Given the description of an element on the screen output the (x, y) to click on. 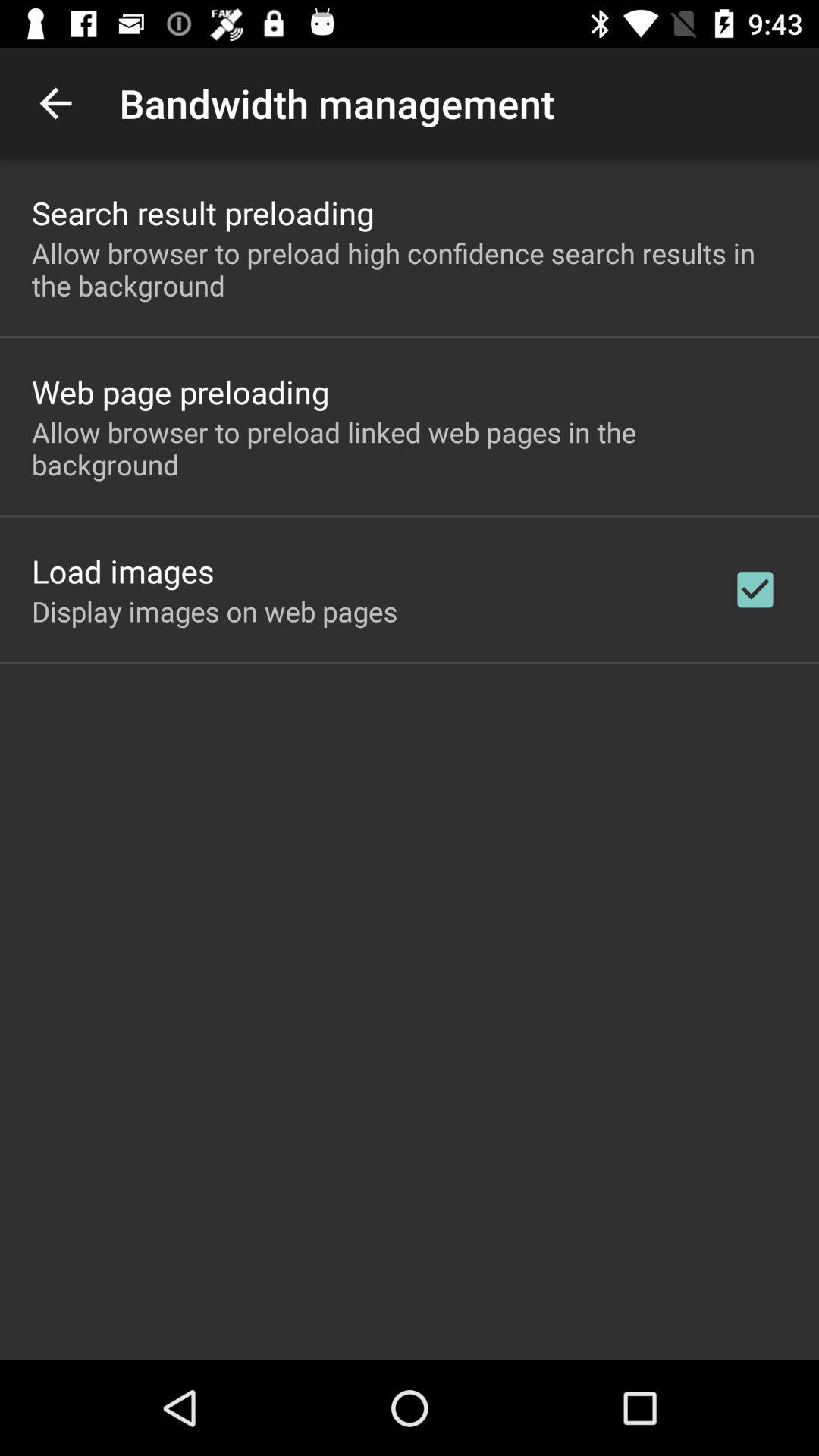
choose item above the allow browser to app (180, 391)
